Given the description of an element on the screen output the (x, y) to click on. 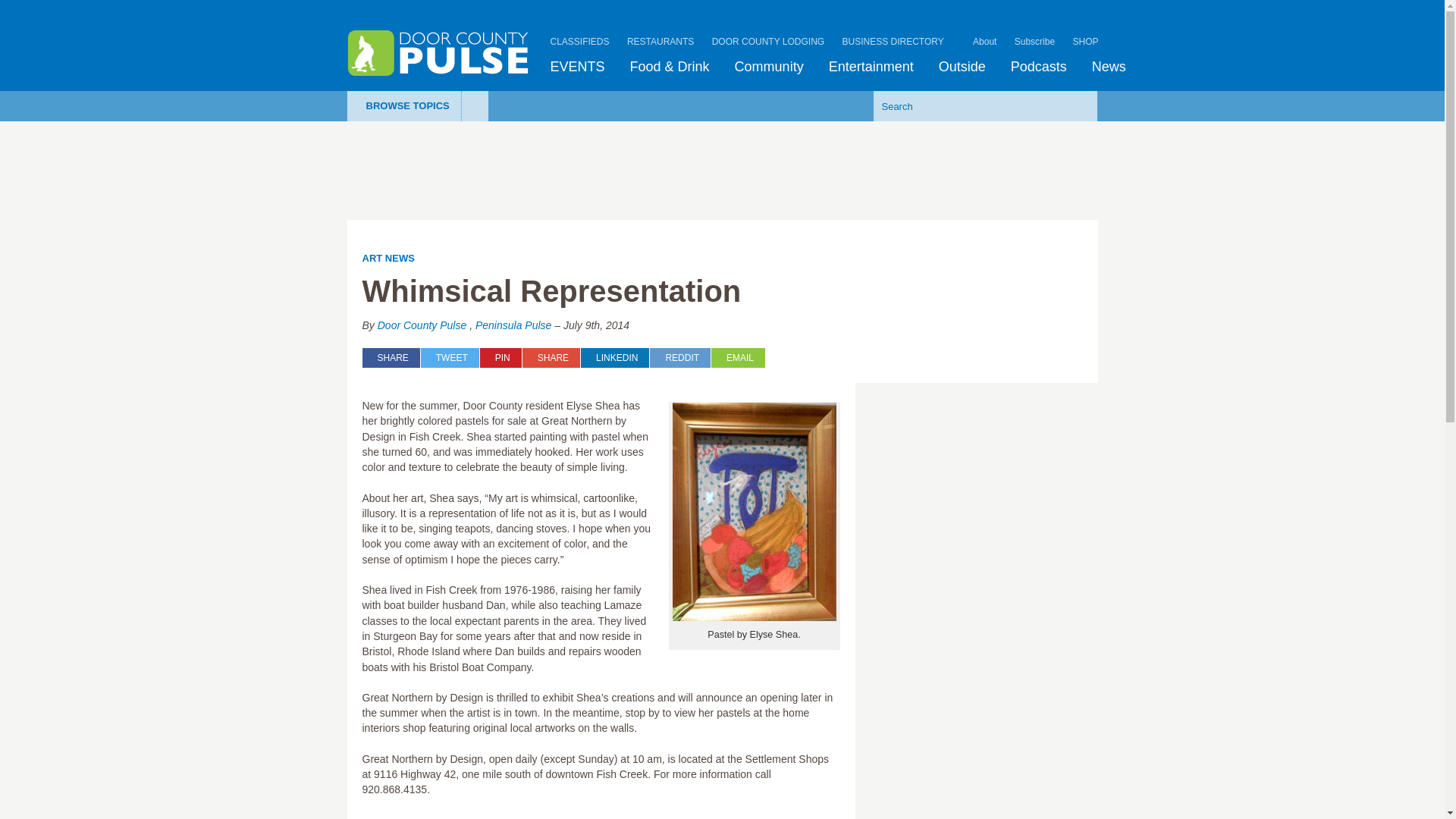
Entertainment (871, 66)
Door County Pulse (437, 53)
Search for: (962, 105)
EVENTS (577, 66)
Outside (961, 66)
Community (768, 66)
Posts by Door County Pulse (422, 325)
